Given the description of an element on the screen output the (x, y) to click on. 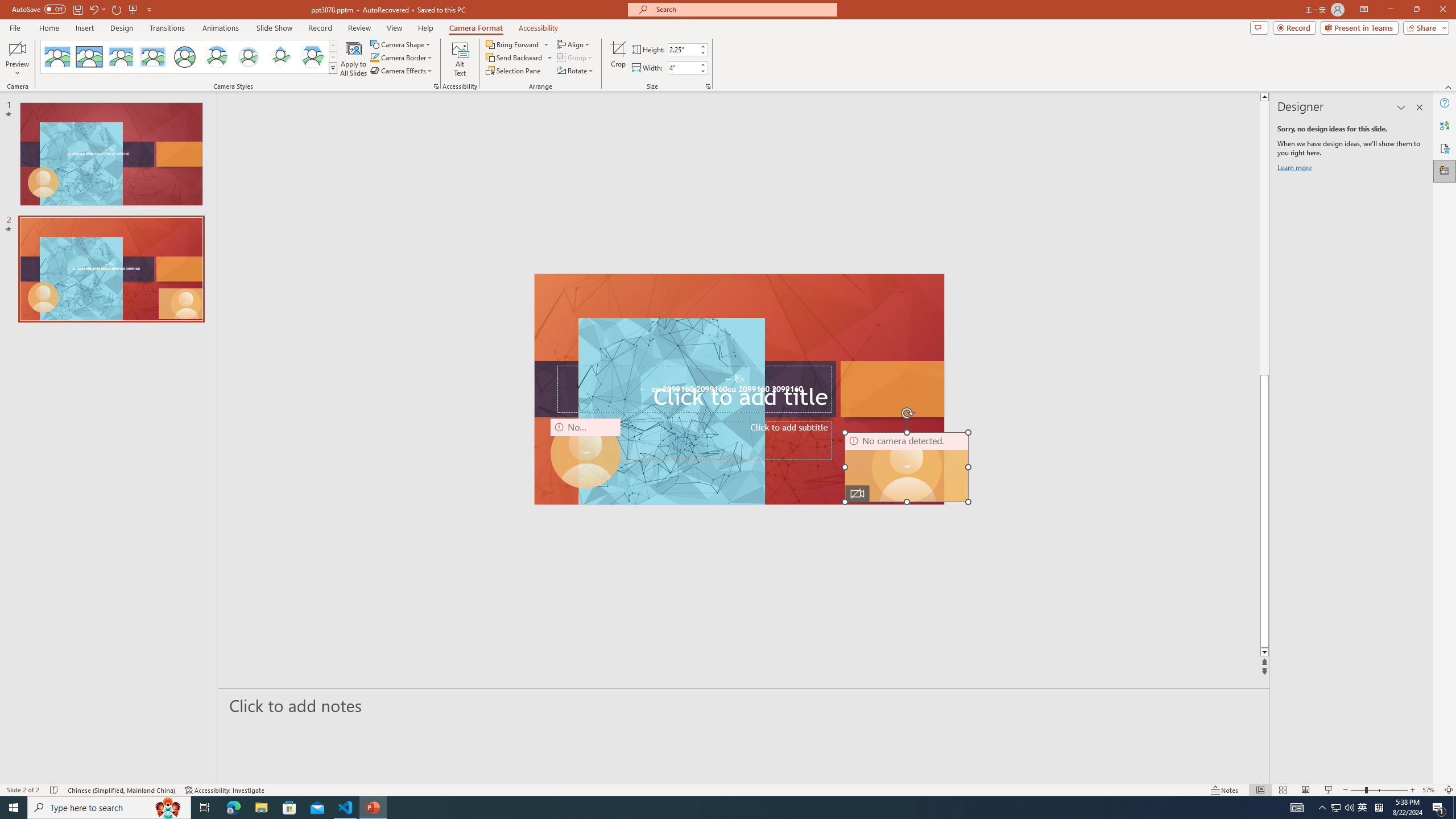
Send Backward (518, 56)
